Given the description of an element on the screen output the (x, y) to click on. 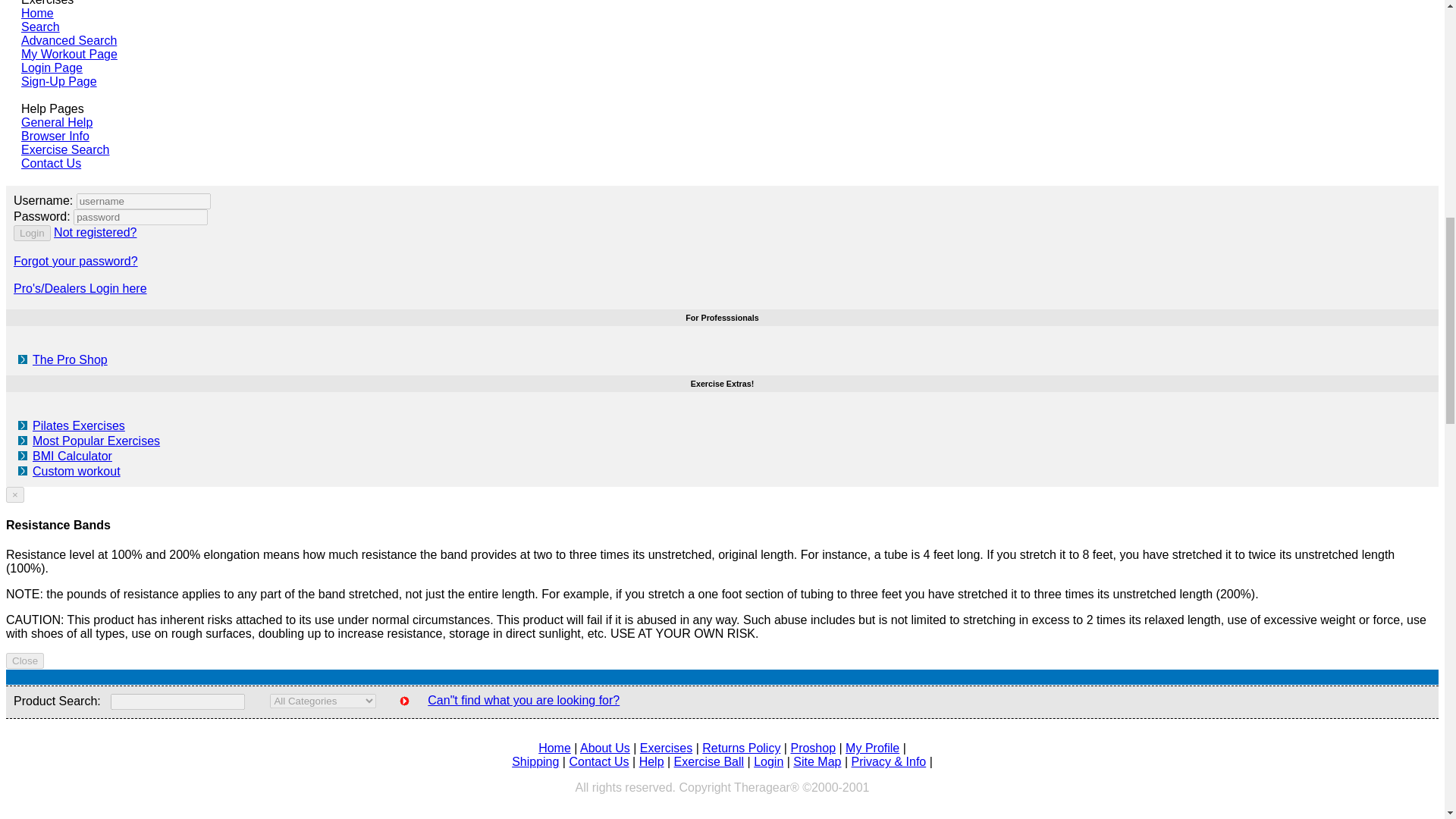
Returns Policy (740, 748)
Shipping Policy (535, 761)
Exercise Ball (709, 761)
